Given the description of an element on the screen output the (x, y) to click on. 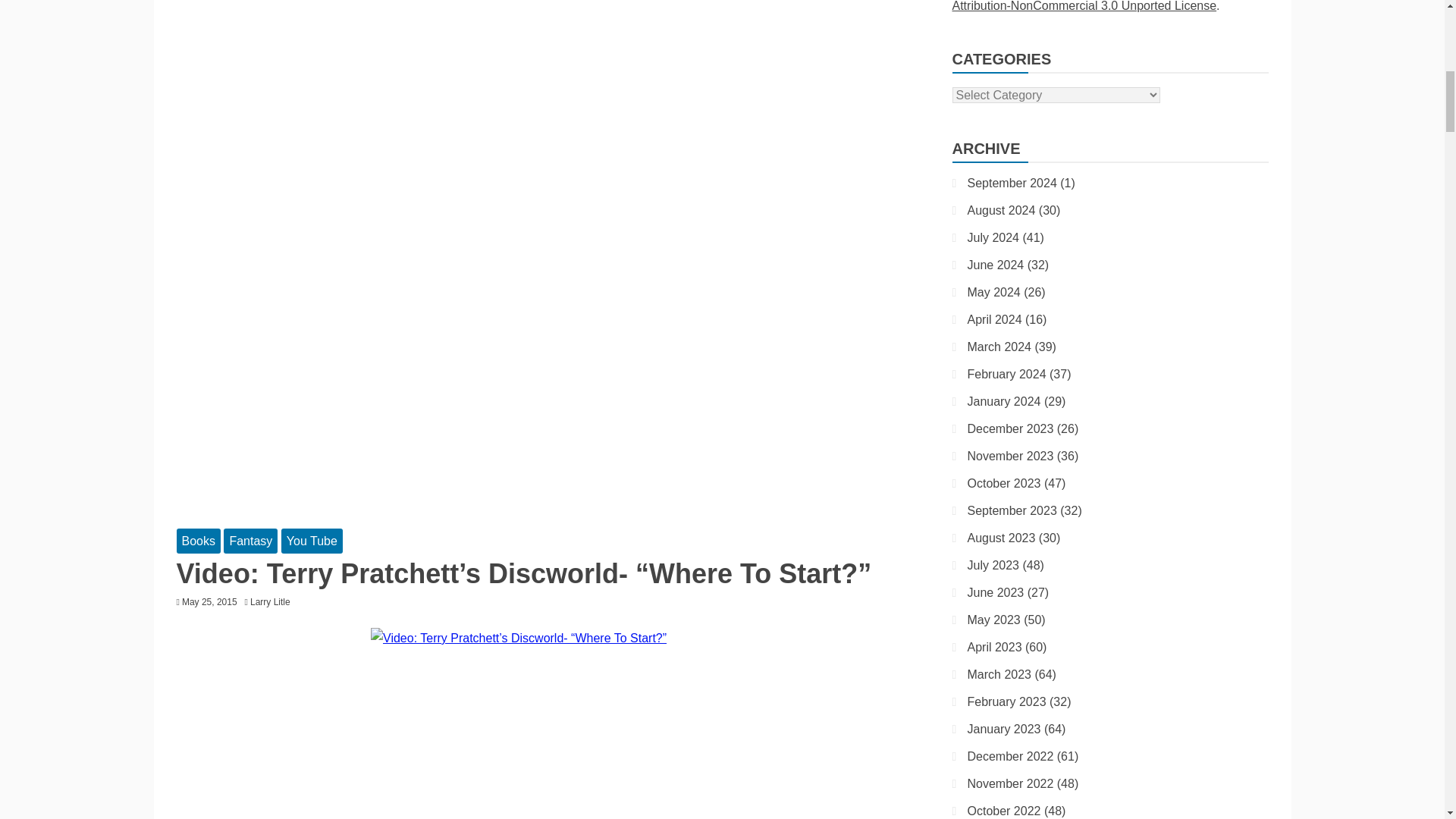
Fantasy (251, 540)
May 25, 2015 (209, 602)
Larry Litle (274, 602)
You Tube (311, 540)
Books (197, 540)
